Given the description of an element on the screen output the (x, y) to click on. 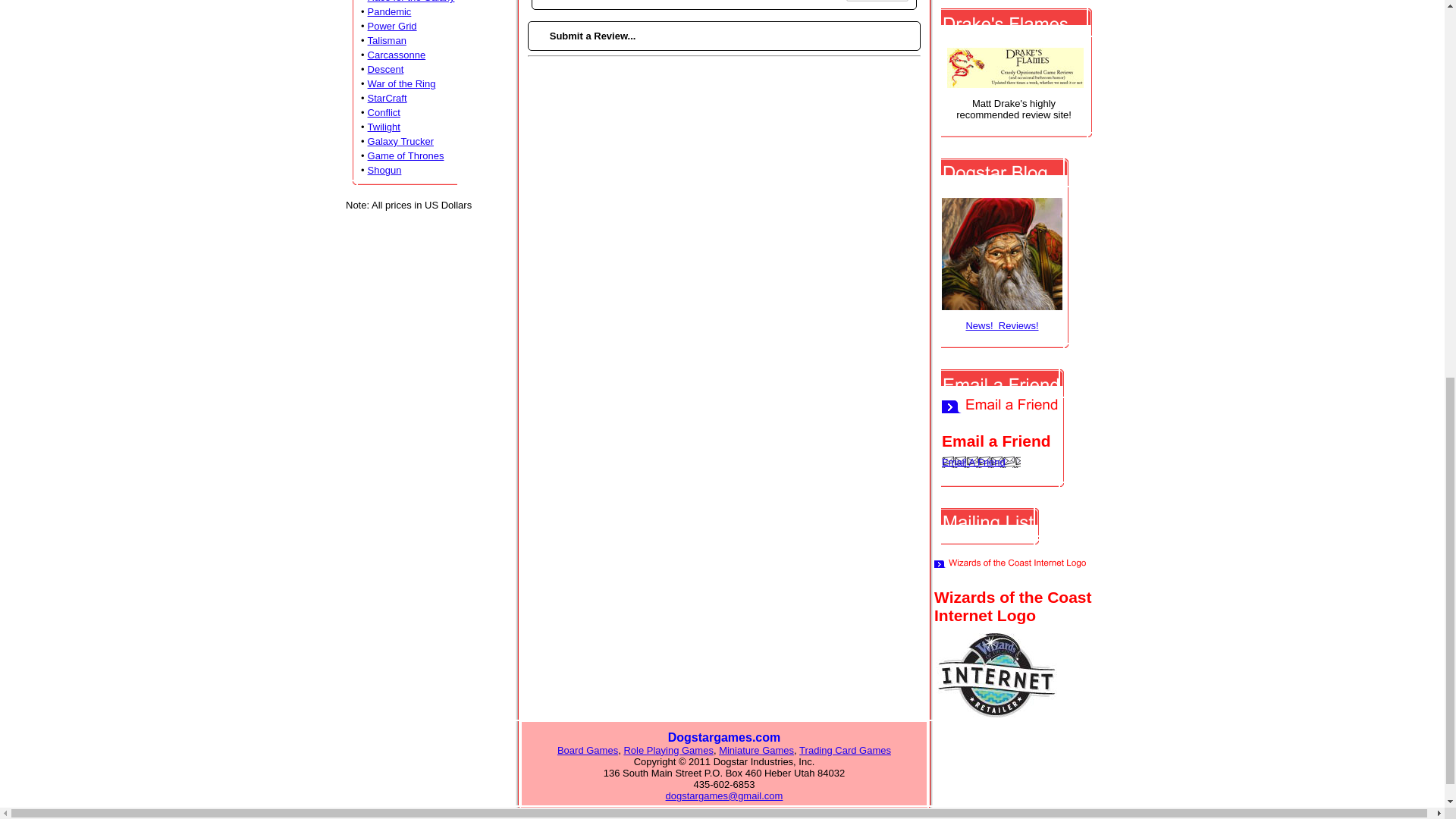
Twilight (384, 126)
Pandemic (390, 11)
Board Games (587, 749)
Game of Thrones (406, 155)
Conflict (384, 112)
Carcassonne (397, 54)
StarCraft (387, 98)
Talisman (387, 40)
Shogun (384, 170)
Dogstar Blog (1002, 264)
Descent (386, 69)
Drakesflames (1015, 81)
War of the Ring (401, 83)
Trading Card Games (845, 749)
Galaxy Trucker (400, 141)
